Given the description of an element on the screen output the (x, y) to click on. 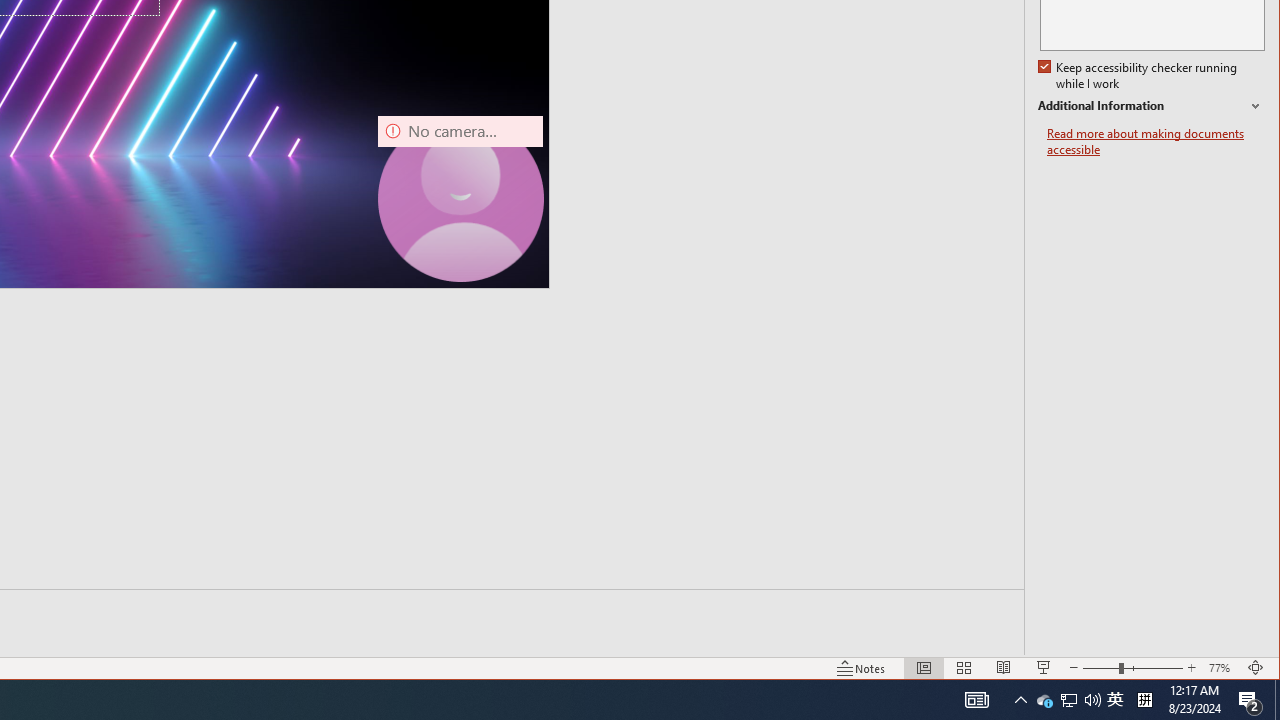
Zoom 77% (1222, 668)
